Given the description of an element on the screen output the (x, y) to click on. 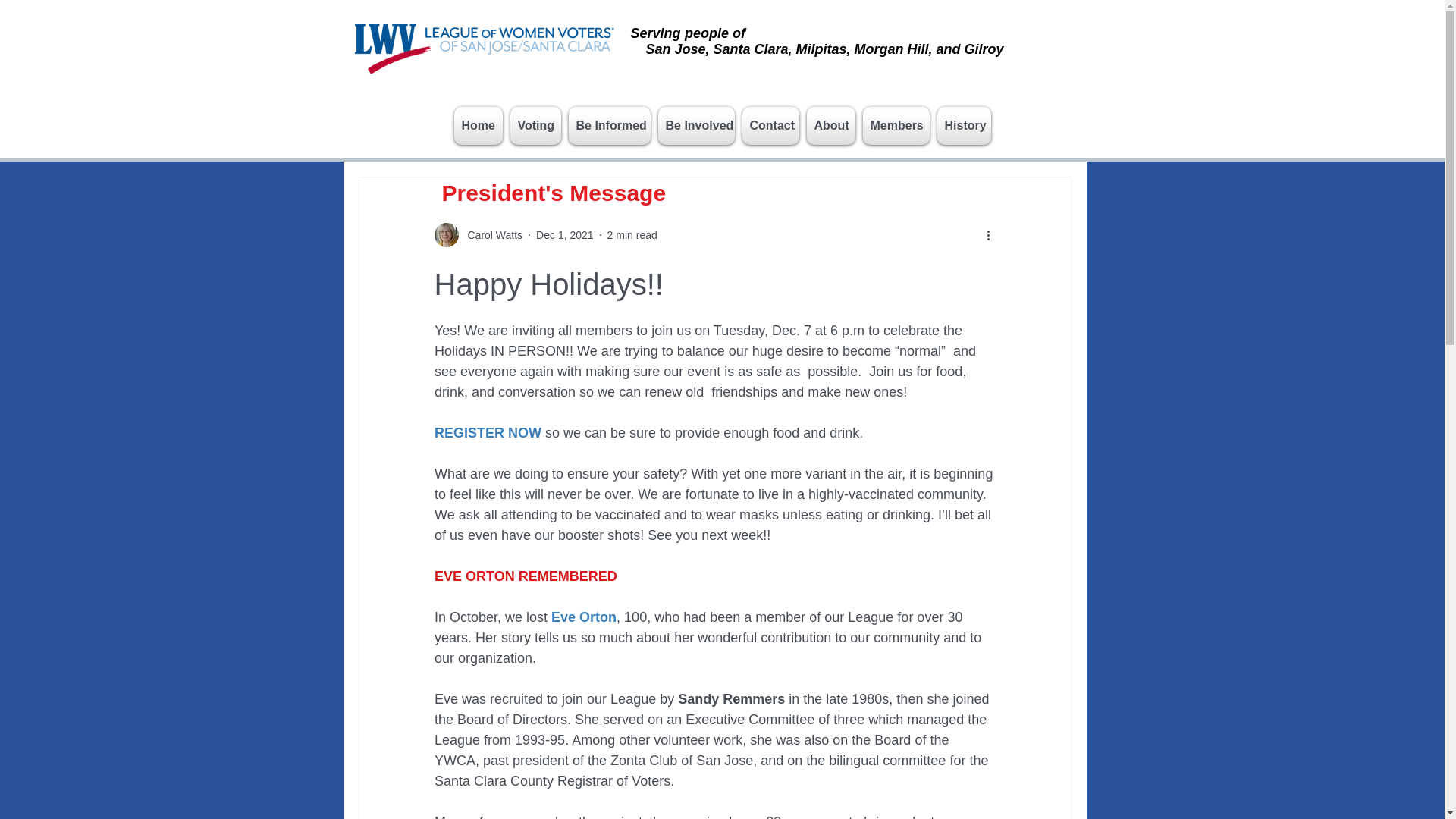
Members (896, 125)
Home (478, 125)
Carol Watts (477, 234)
Eve Orton (583, 616)
Dec 1, 2021 (564, 234)
Carol Watts (490, 235)
2 min read (632, 234)
REGISTER NOW (486, 432)
